Given the description of an element on the screen output the (x, y) to click on. 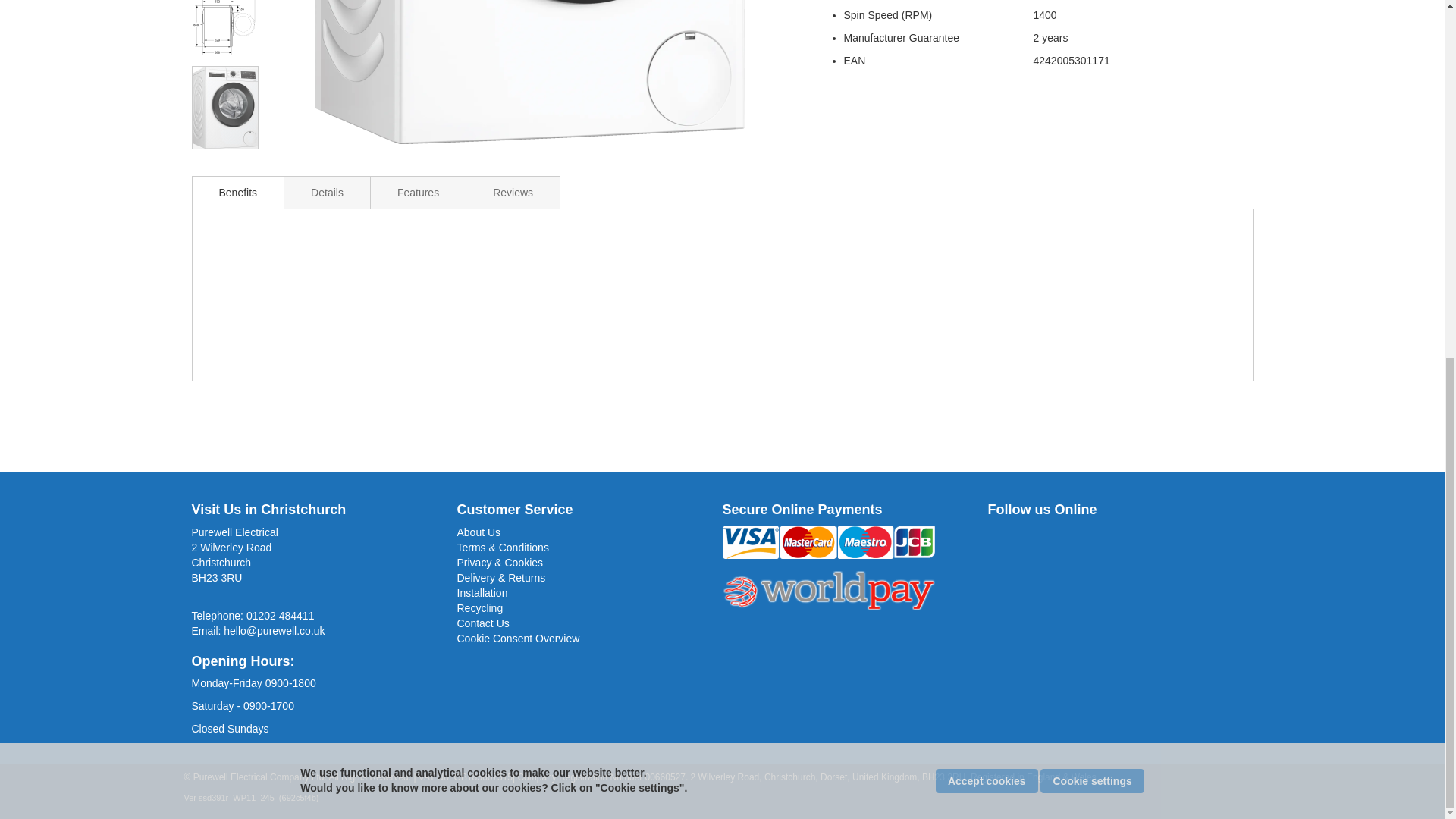
Product Information from the manufacturer (721, 292)
